Given the description of an element on the screen output the (x, y) to click on. 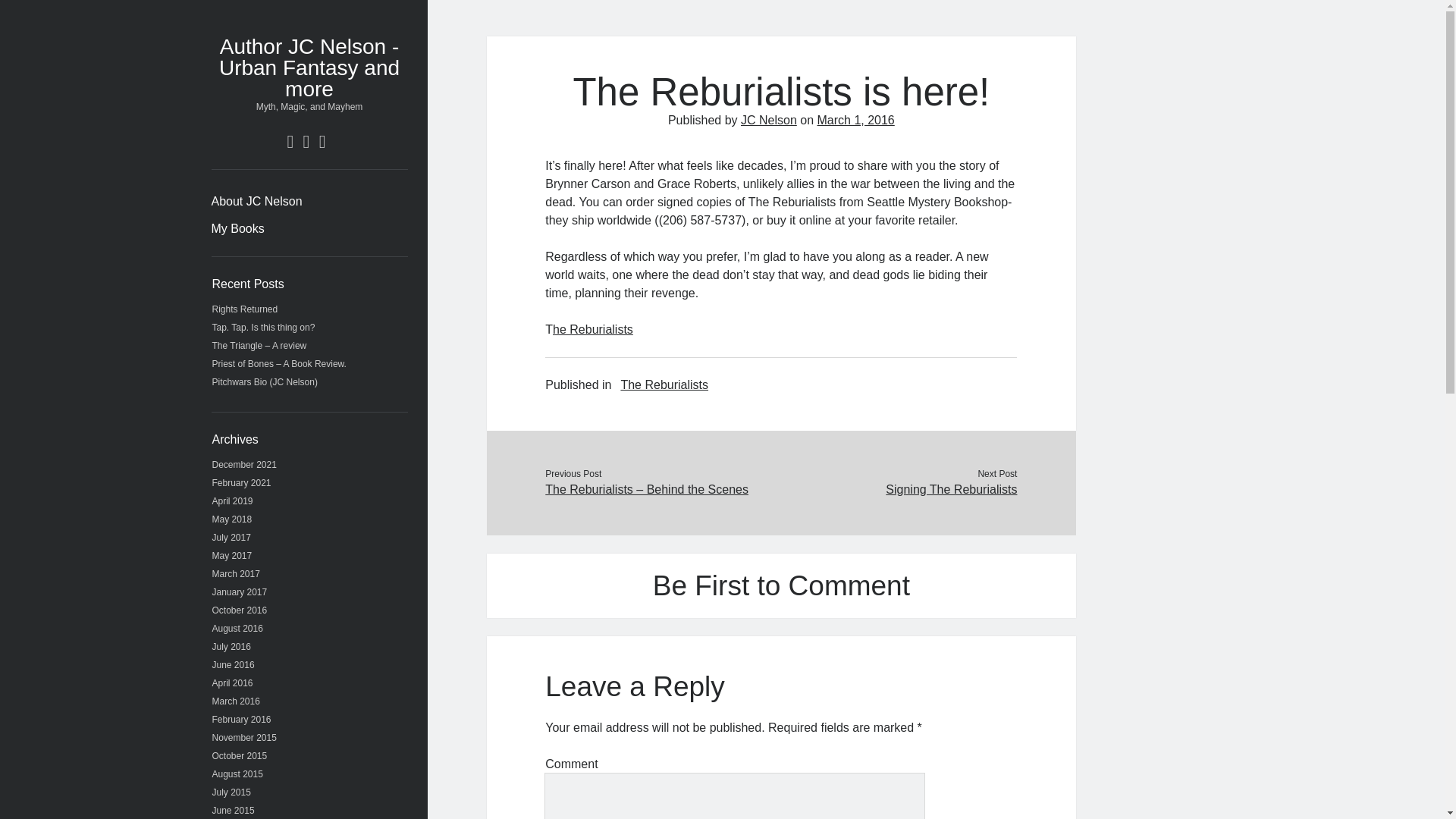
About JC Nelson (256, 201)
June 2016 (233, 665)
July 2017 (231, 537)
May 2018 (231, 519)
November 2015 (244, 737)
May 2017 (231, 555)
Author JC Nelson - Urban Fantasy and more (308, 67)
My Books (237, 229)
October 2016 (239, 610)
Tap. Tap. Is this thing on? (263, 327)
